Given the description of an element on the screen output the (x, y) to click on. 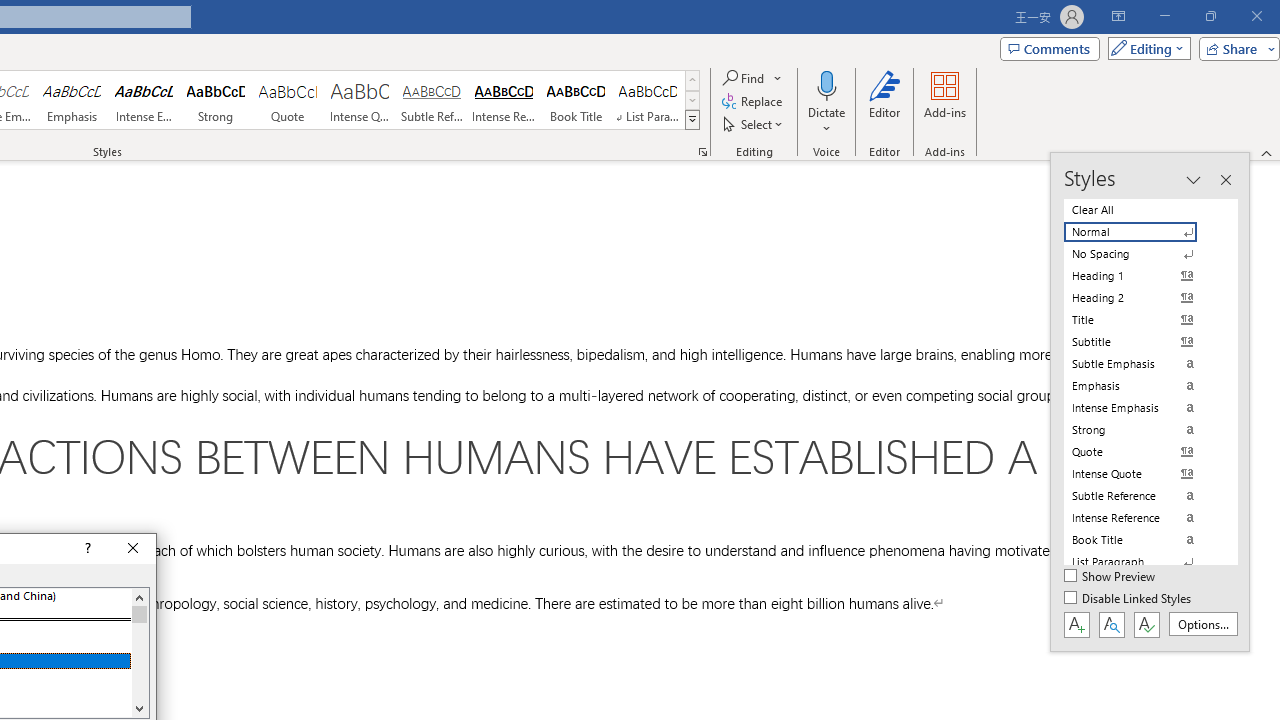
Emphasis (71, 100)
Collapse the Ribbon (1267, 152)
Options... (1202, 623)
Ribbon Display Options (1118, 16)
List Paragraph (1142, 561)
Task Pane Options (1193, 179)
Heading 2 (1142, 297)
Class: MsoCommandBar (1149, 401)
Subtle Reference (431, 100)
Share (1235, 48)
Styles... (702, 151)
Select (754, 124)
Subtle Emphasis (1142, 363)
